Given the description of an element on the screen output the (x, y) to click on. 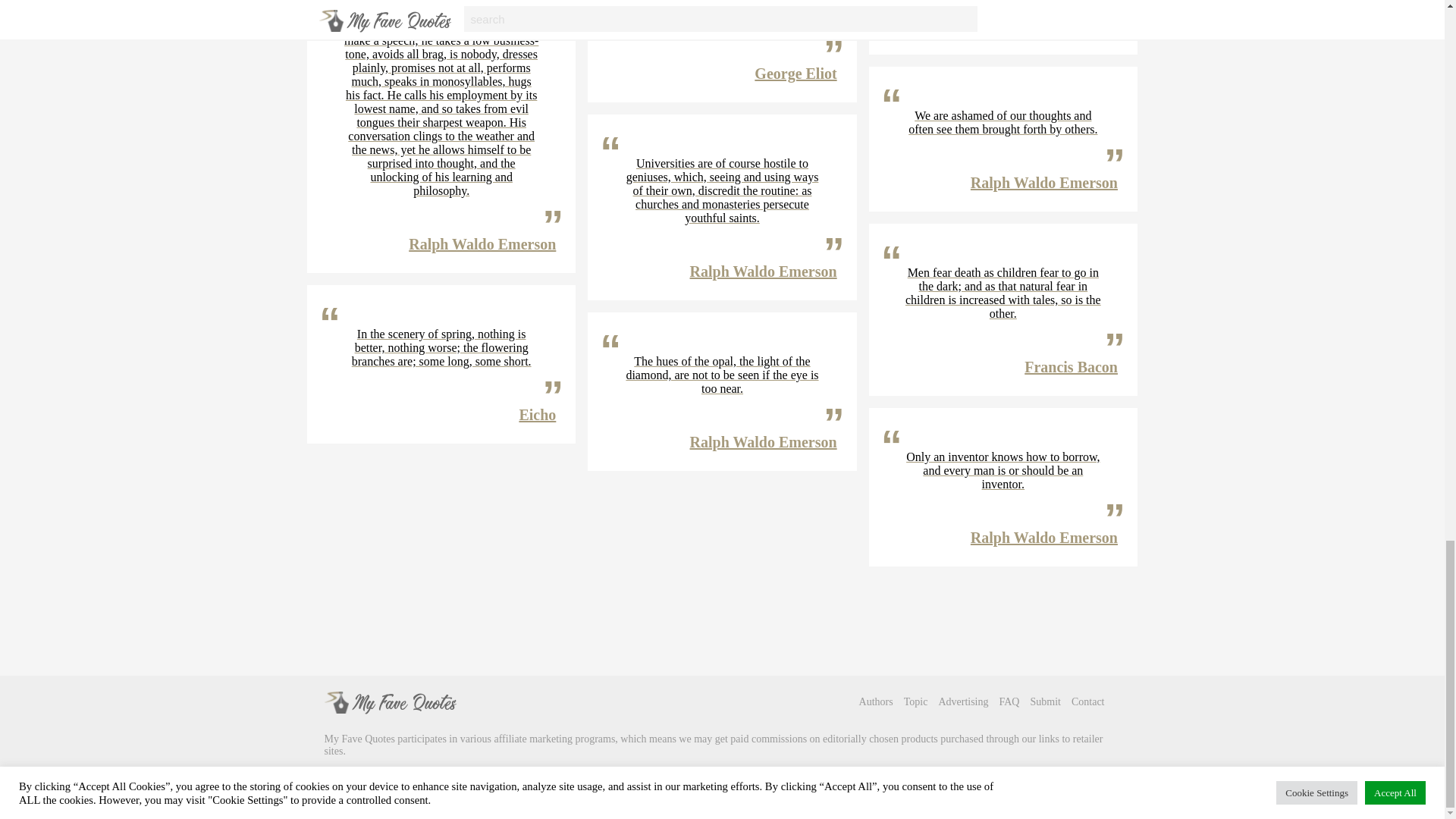
Ralph Waldo Emerson (482, 243)
